Given the description of an element on the screen output the (x, y) to click on. 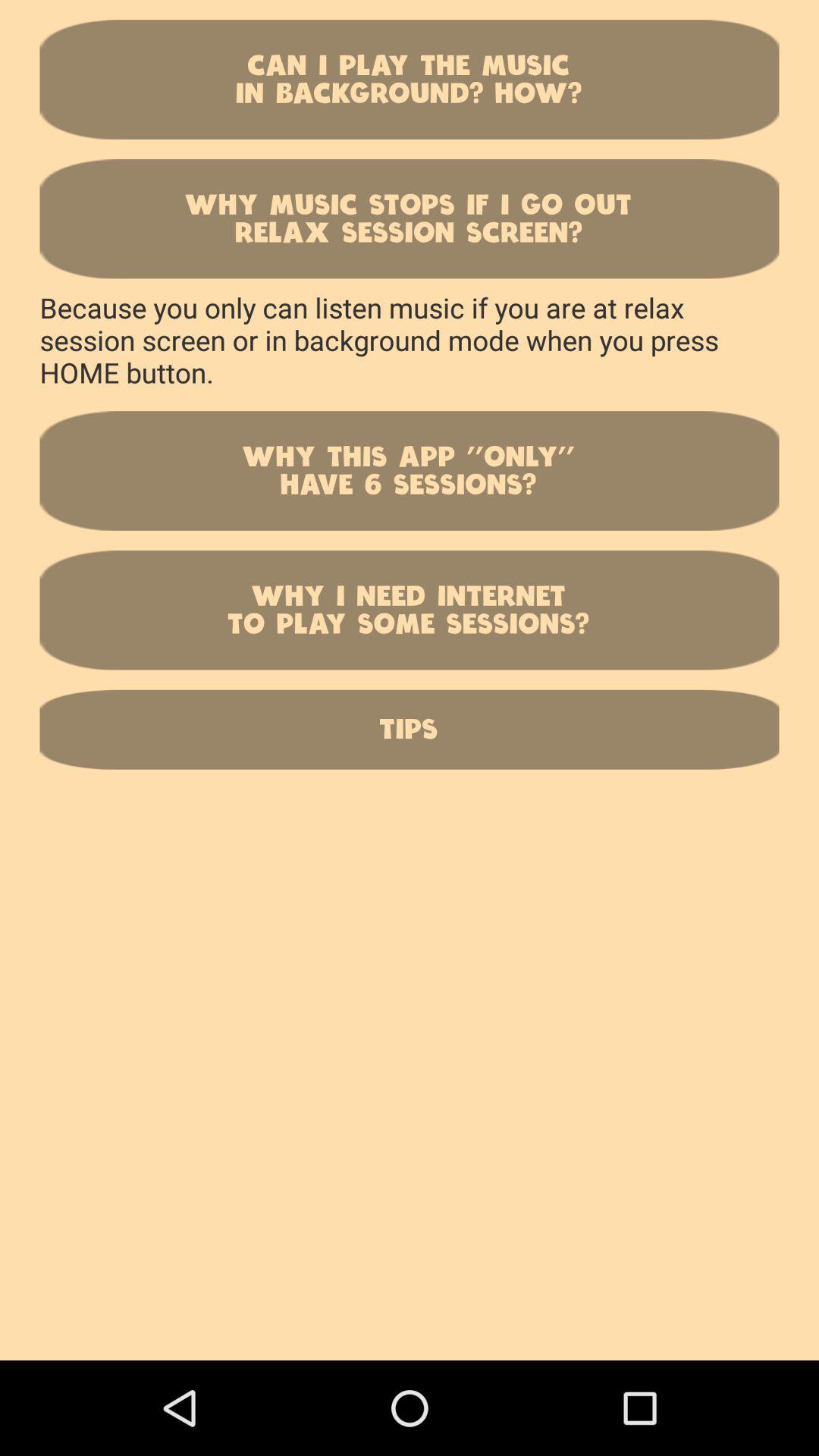
choose tips button (409, 729)
